Given the description of an element on the screen output the (x, y) to click on. 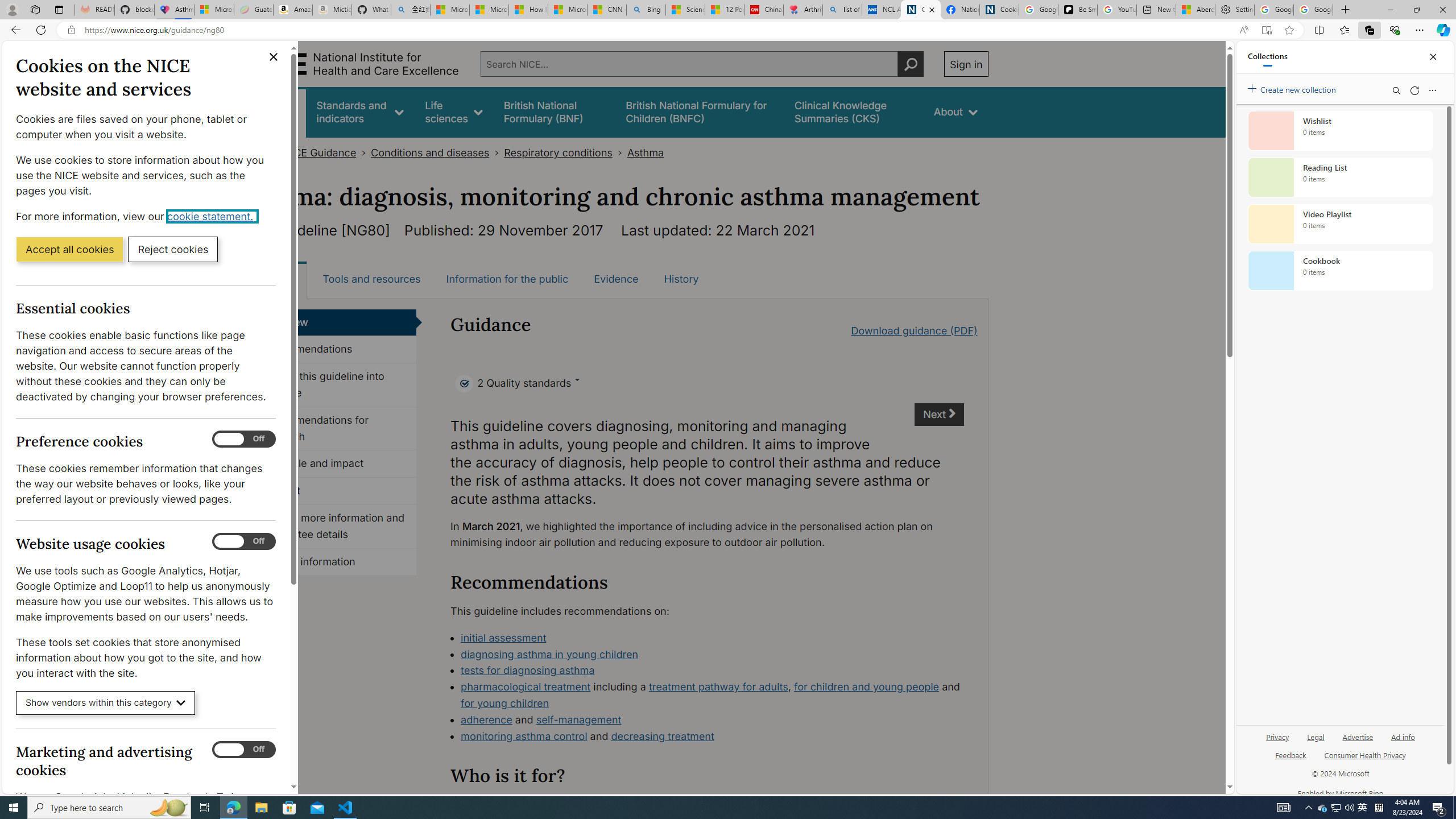
monitoring asthma control and decreasing treatment (711, 736)
Evidence (616, 279)
Reject cookies (173, 248)
British National Formulary for Children (BNFC) (699, 111)
false (853, 111)
self-management (578, 719)
Create new collection (1293, 87)
decreasing treatment (662, 735)
